Given the description of an element on the screen output the (x, y) to click on. 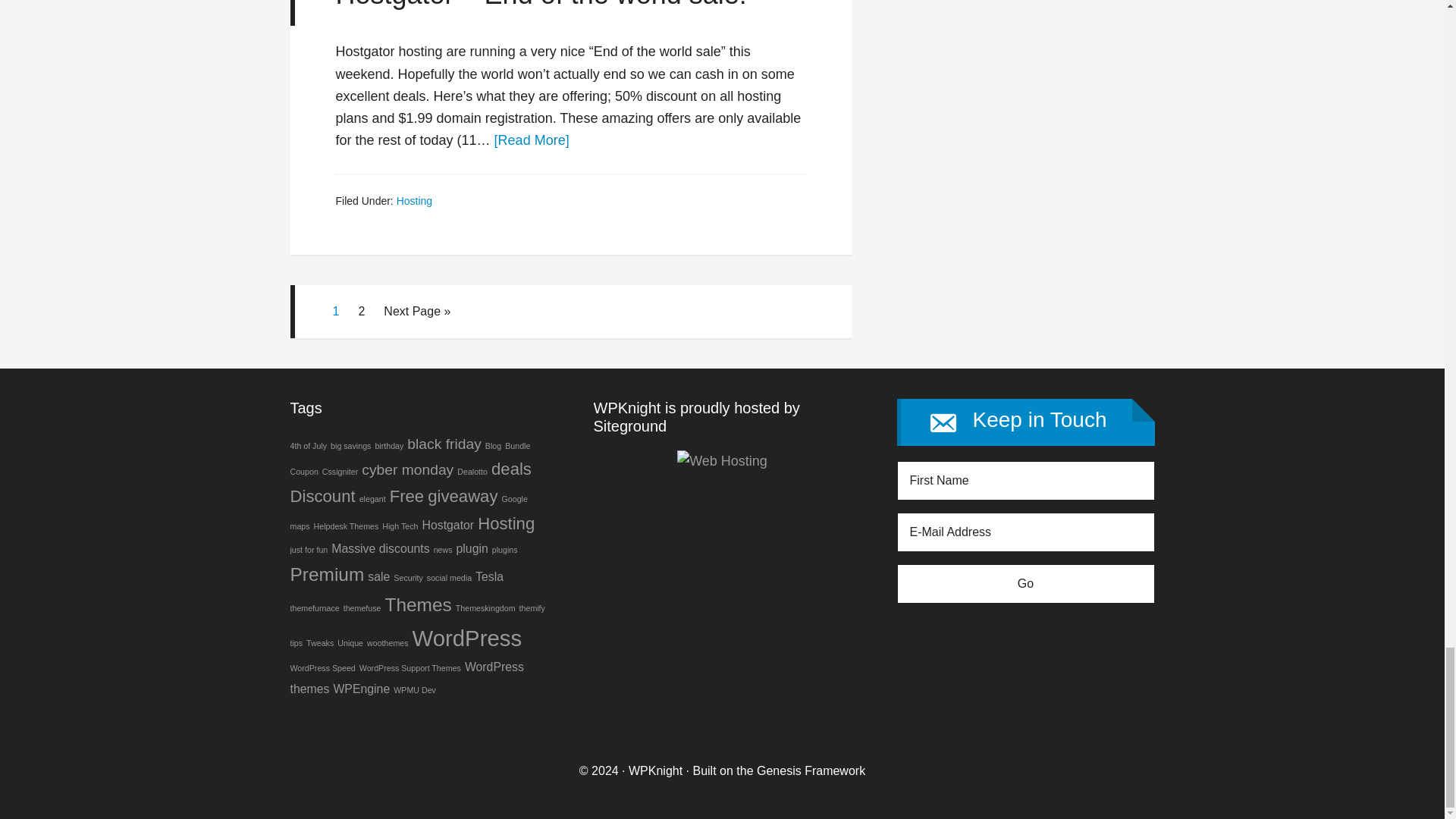
StudioPress (810, 770)
Go (1025, 583)
